Given the description of an element on the screen output the (x, y) to click on. 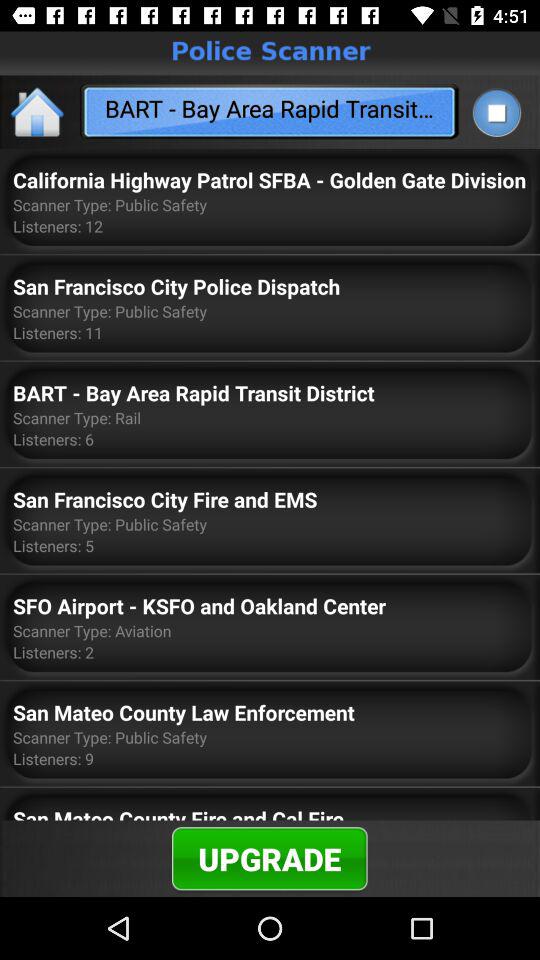
go to home page (38, 111)
